Given the description of an element on the screen output the (x, y) to click on. 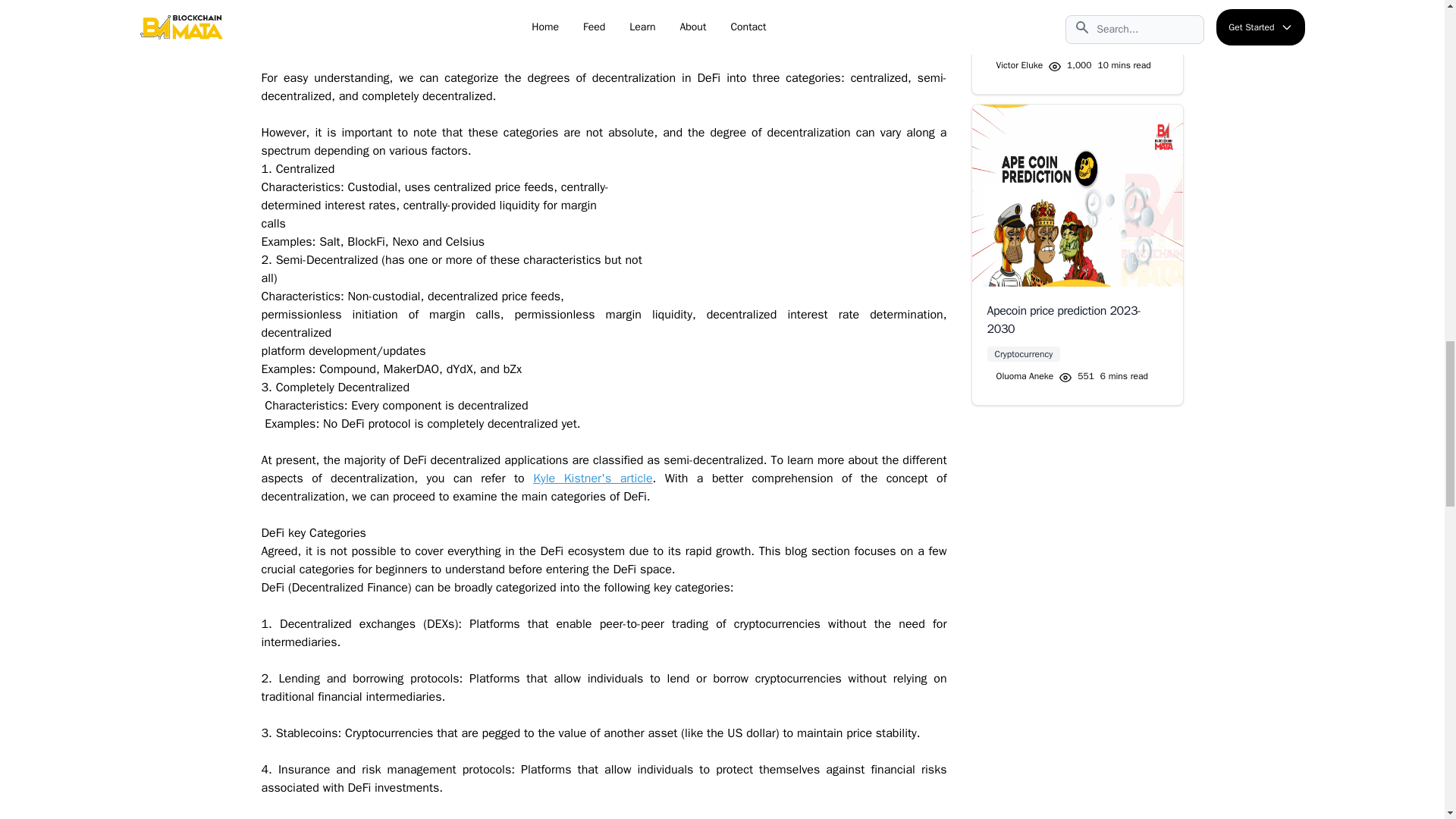
Kyle Kistner's article (1072, 375)
Apecoin price prediction 2023-2030 (1073, 64)
